Given the description of an element on the screen output the (x, y) to click on. 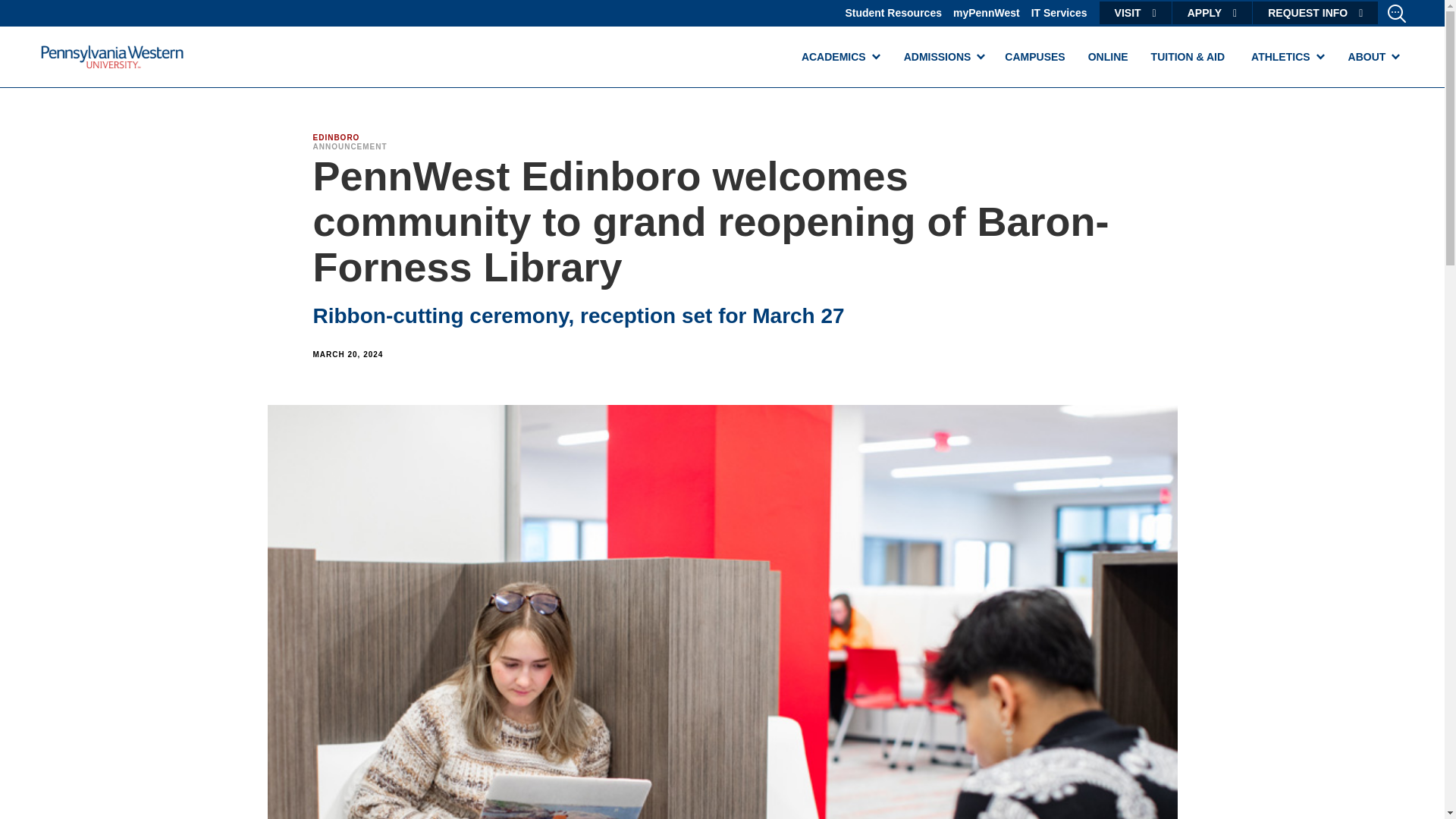
Student Resources (893, 12)
myPennWest (986, 12)
CAMPUSES (1033, 56)
ONLINE (1108, 56)
IT Services (1058, 12)
Search (29, 14)
